Given the description of an element on the screen output the (x, y) to click on. 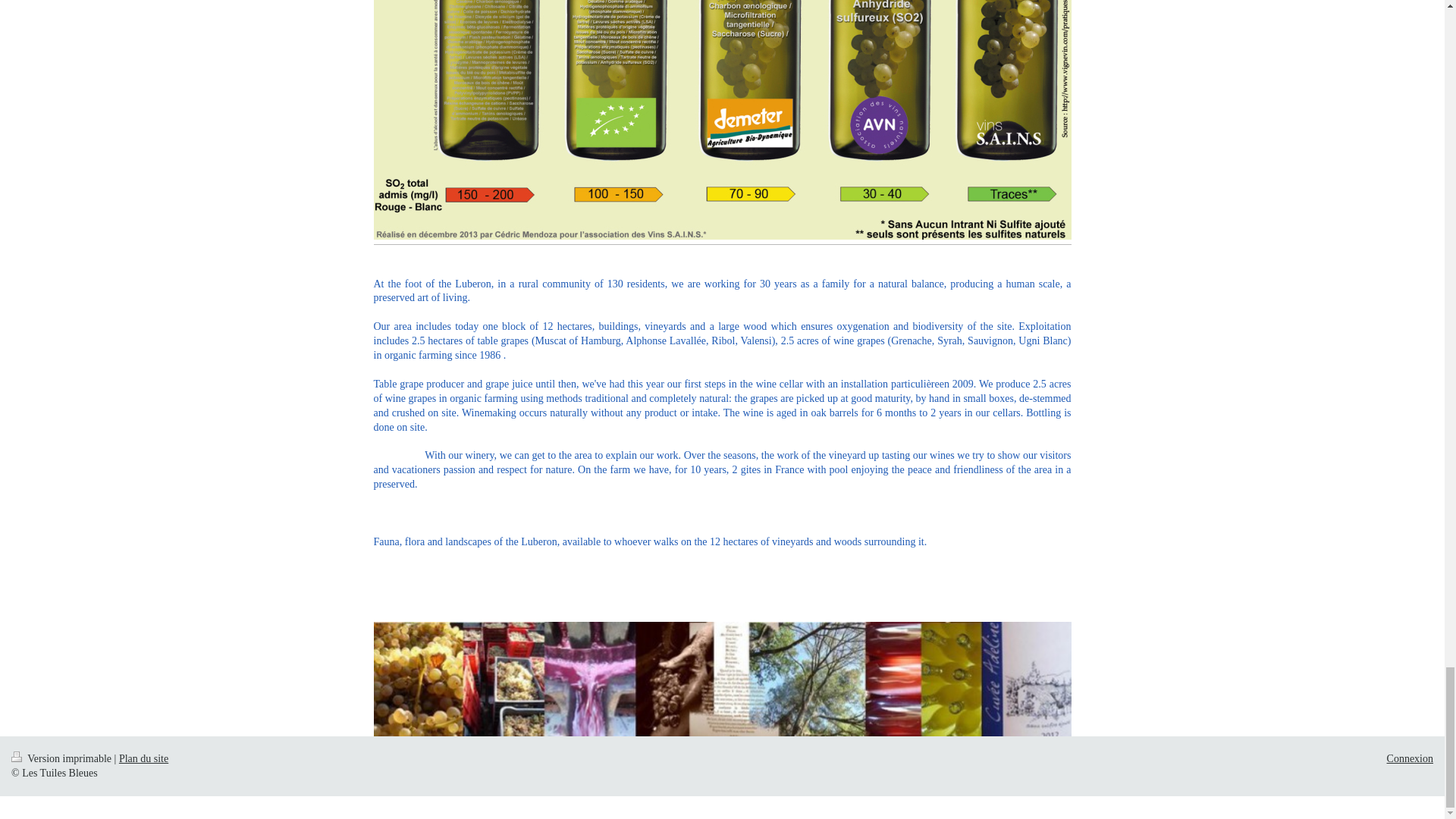
Plan du site (143, 758)
Connexion (1409, 758)
Version imprimable (63, 758)
